Given the description of an element on the screen output the (x, y) to click on. 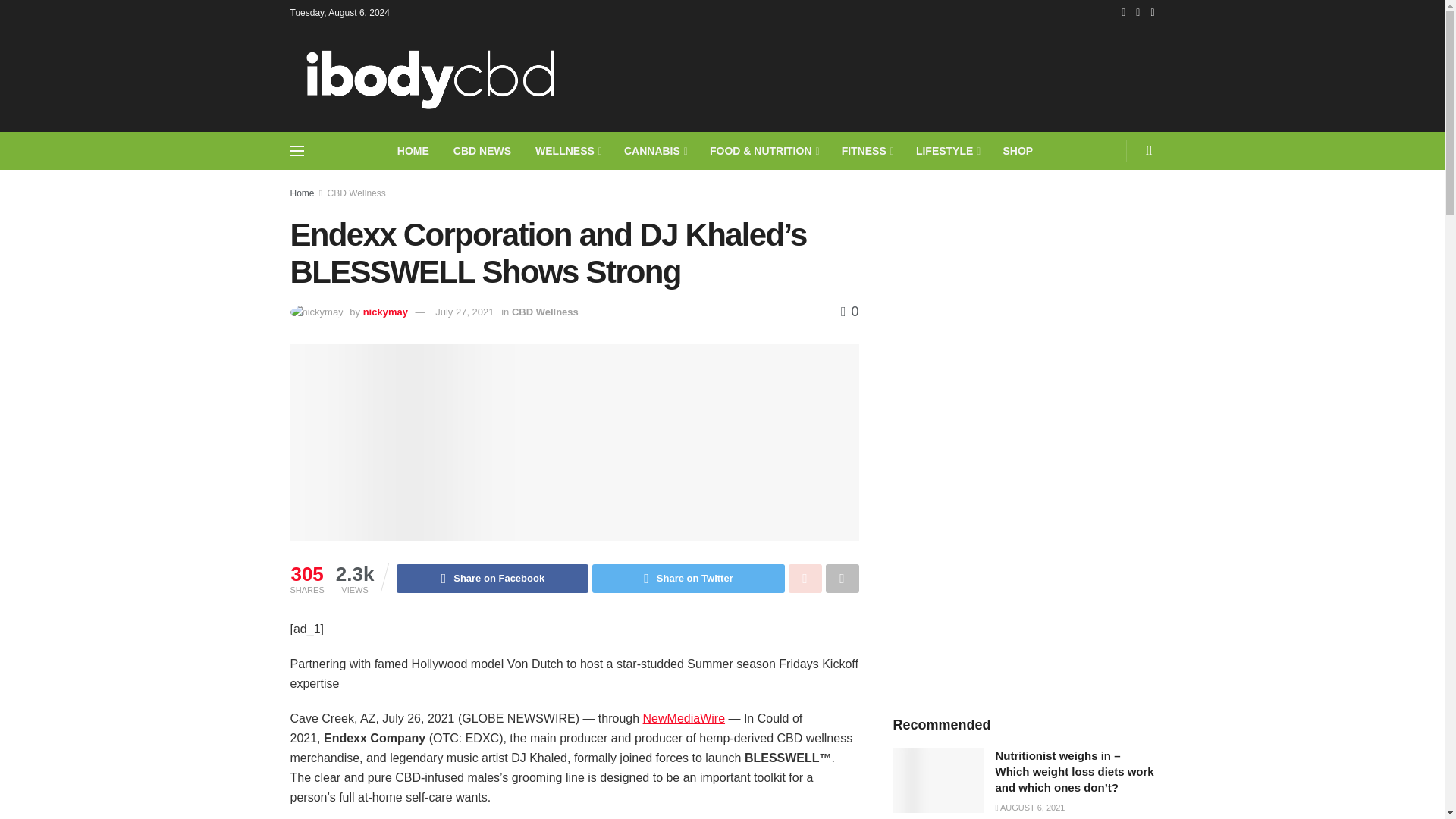
WELLNESS (566, 150)
FITNESS (866, 150)
SHOP (1017, 150)
HOME (413, 150)
Advertisement (878, 76)
CBD NEWS (481, 150)
LIFESTYLE (947, 150)
CANNABIS (654, 150)
